Given the description of an element on the screen output the (x, y) to click on. 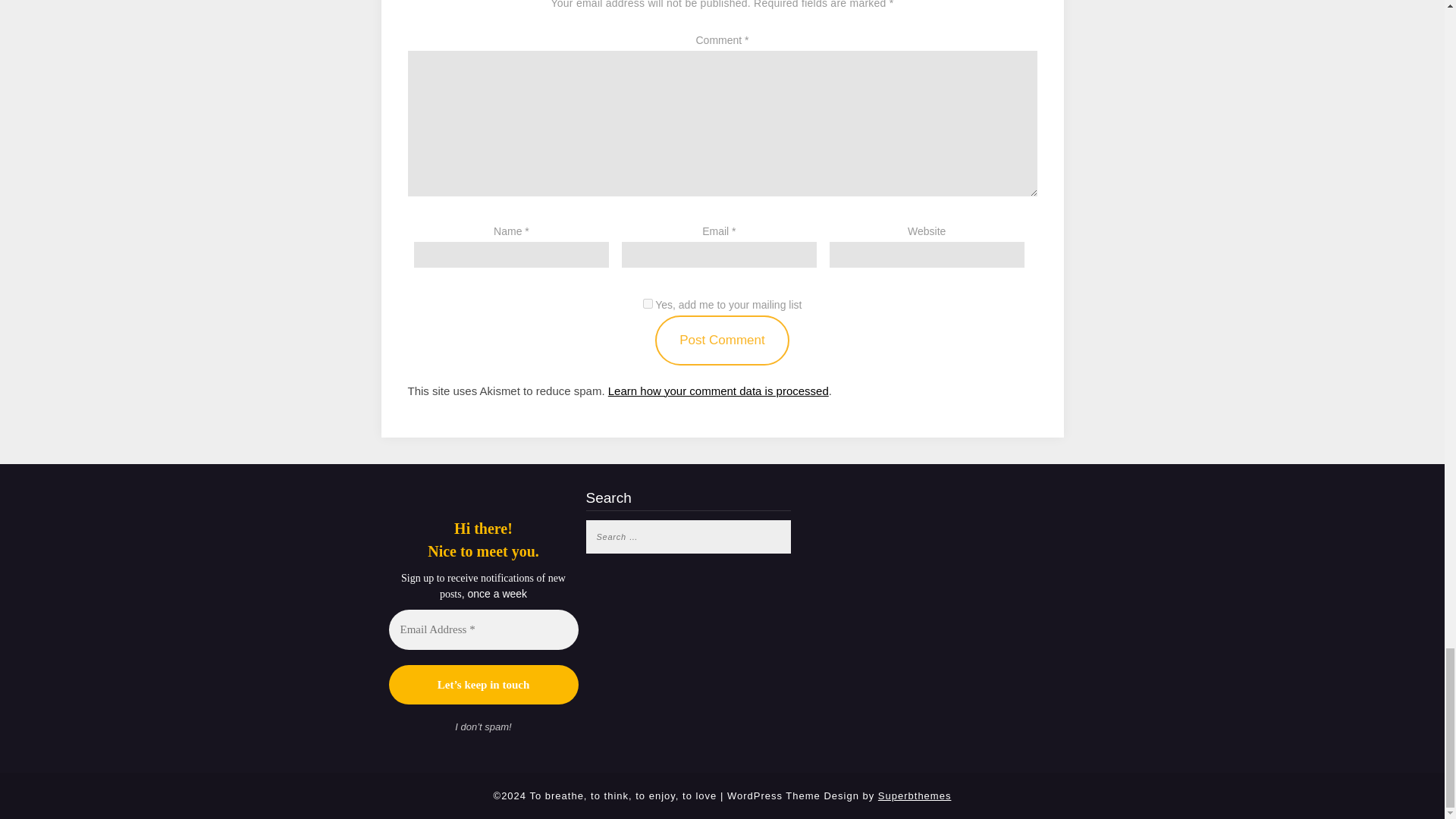
Email Address (483, 629)
Superbthemes (914, 795)
Post Comment (722, 340)
Learn how your comment data is processed (718, 390)
Post Comment (722, 340)
1 (647, 303)
